Given the description of an element on the screen output the (x, y) to click on. 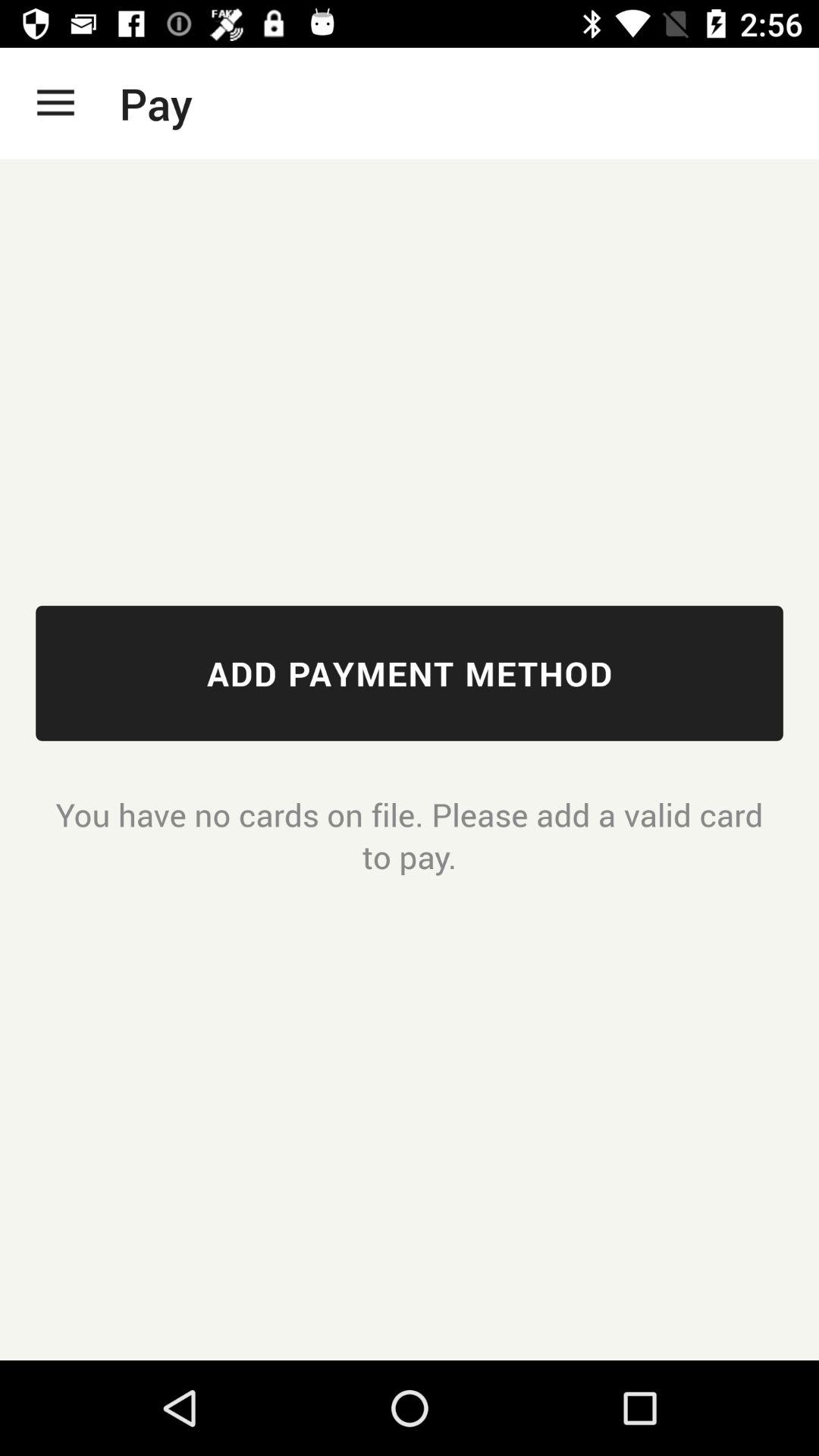
tap icon above you have no icon (409, 673)
